Given the description of an element on the screen output the (x, y) to click on. 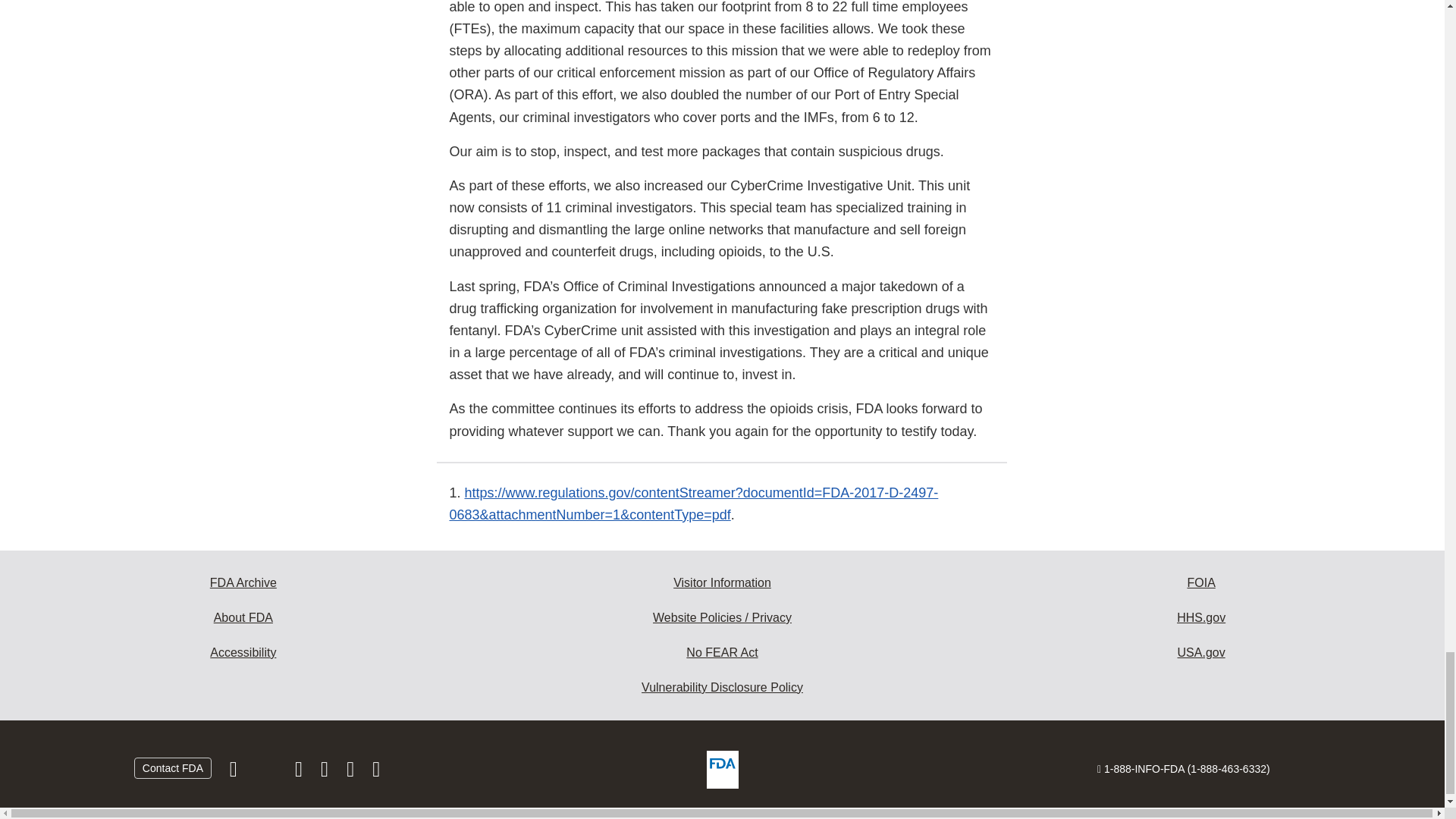
Follow FDA on LinkedIn (326, 772)
Follow FDA on Facebook (234, 772)
Freedom of Information Act (1200, 582)
View FDA videos on YouTube (352, 772)
Follow FDA on Instagram (299, 772)
Follow FDA on X (266, 772)
Subscribe to FDA RSS feeds (376, 772)
Health and Human Services (1200, 617)
